Given the description of an element on the screen output the (x, y) to click on. 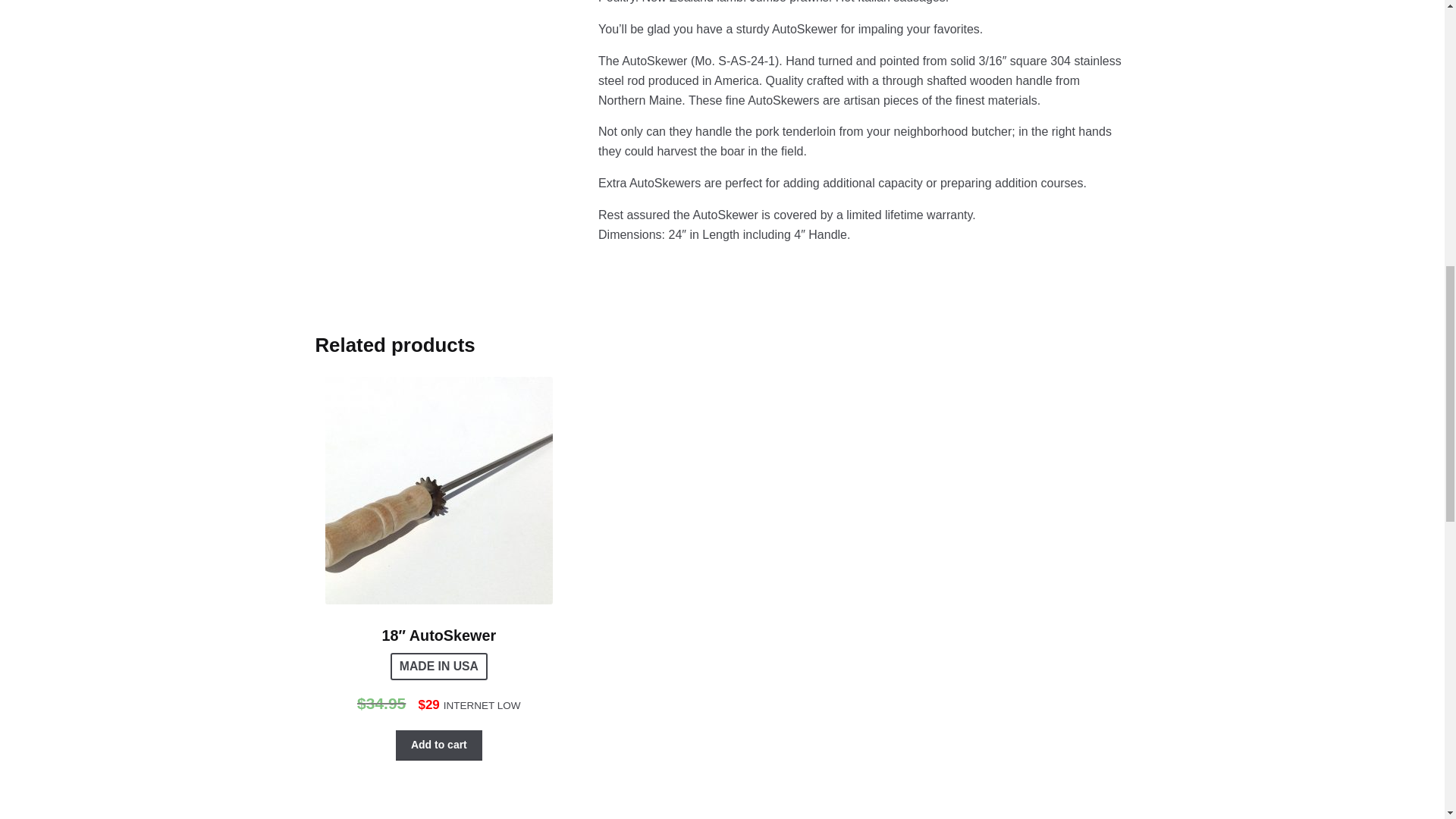
Add to cart (438, 745)
